Given the description of an element on the screen output the (x, y) to click on. 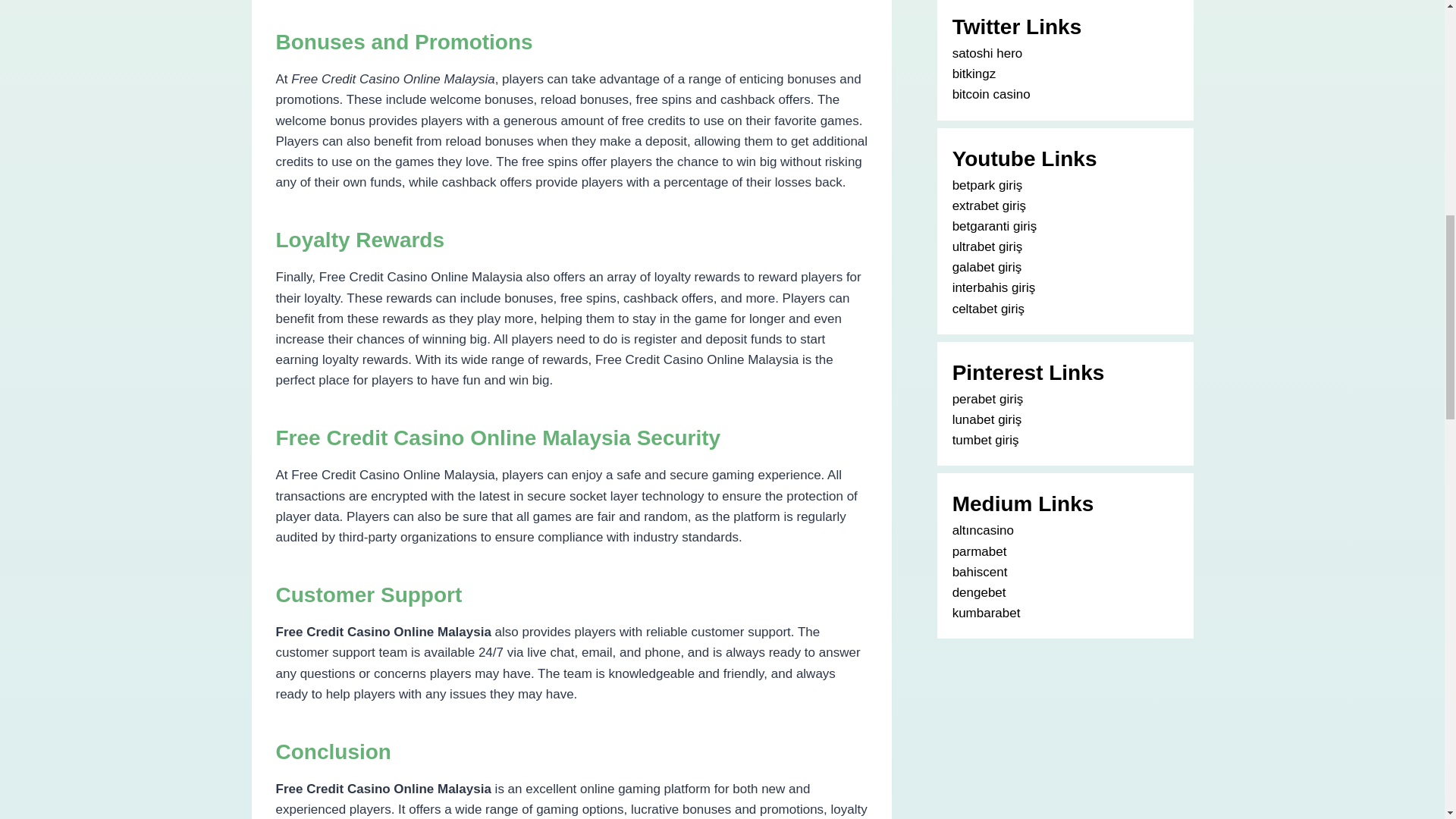
satoshi hero (987, 52)
bitkingz (973, 73)
bitcoin casino (991, 93)
